Given the description of an element on the screen output the (x, y) to click on. 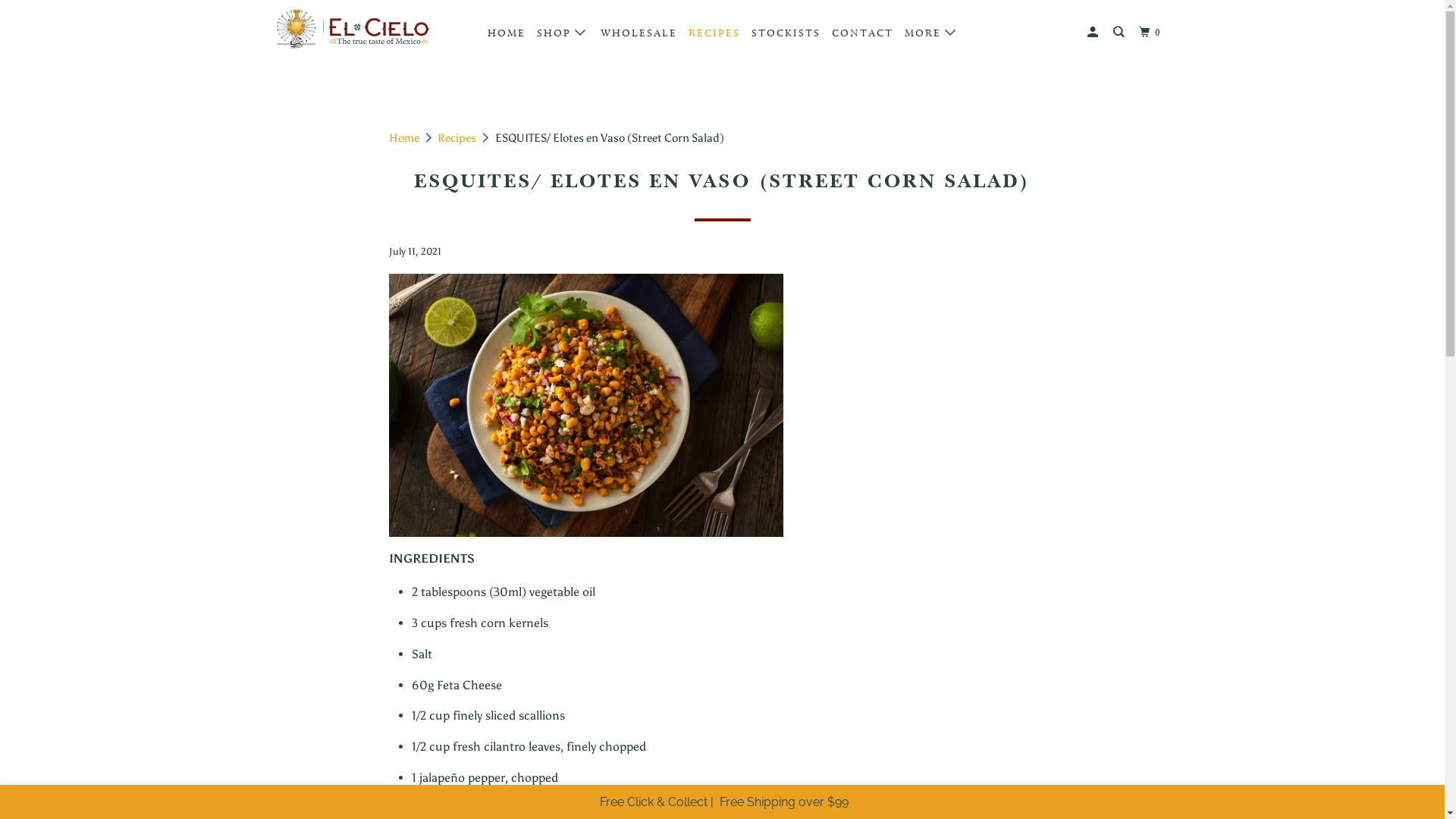
Recipes Element type: text (456, 137)
HOME Element type: text (506, 33)
Home Element type: text (403, 137)
SHOP Element type: text (562, 32)
CONTACT Element type: text (862, 33)
MORE Element type: text (931, 32)
STOCKISTS Element type: text (785, 33)
Search Element type: hover (1120, 32)
El Cielo Element type: hover (351, 32)
0 Element type: text (1151, 32)
RECIPES Element type: text (714, 33)
WHOLESALE Element type: text (638, 33)
